Given the description of an element on the screen output the (x, y) to click on. 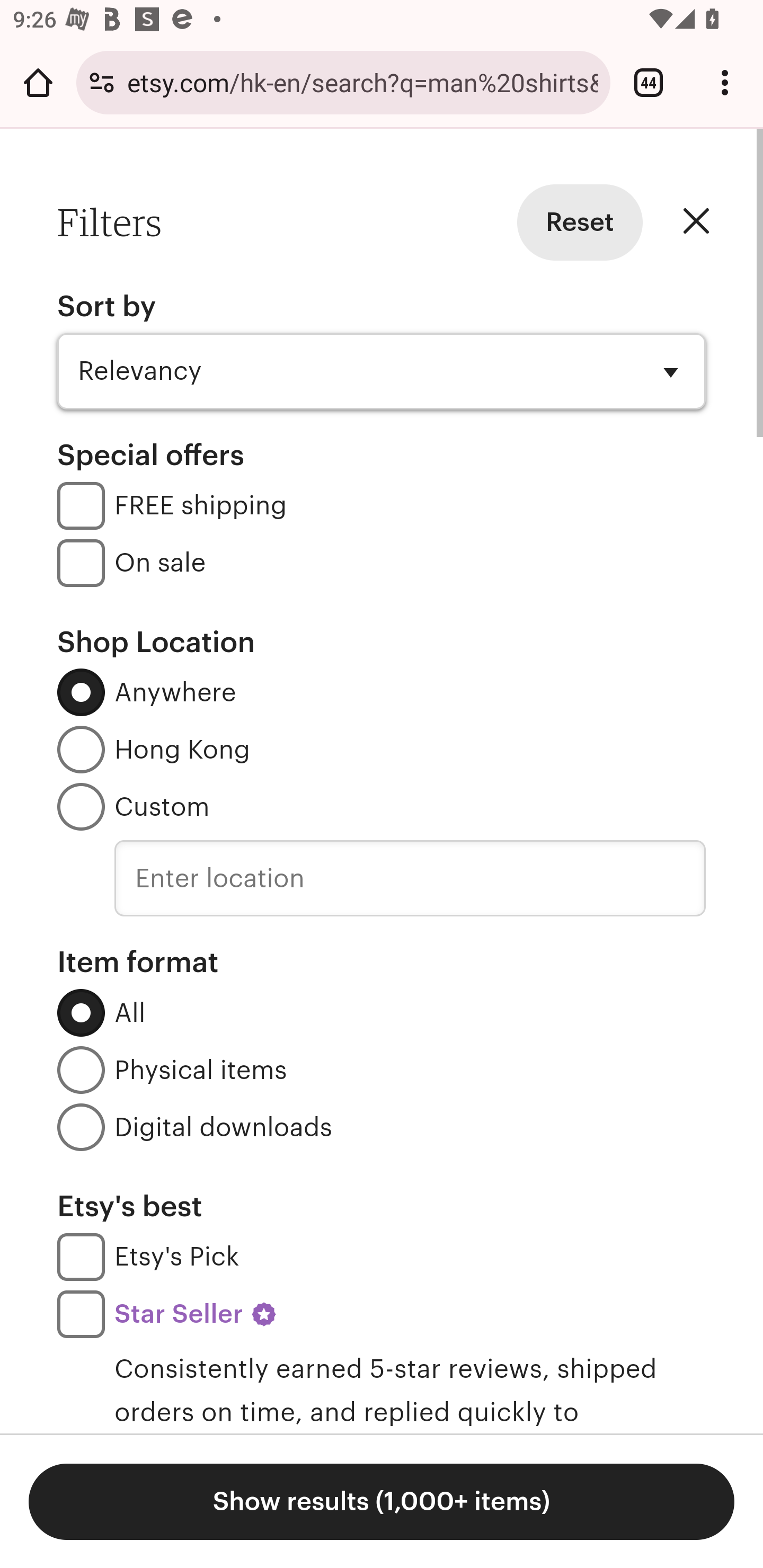
Open the home page (38, 82)
Connection is secure (101, 82)
Switch or close tabs (648, 82)
Customize and control Google Chrome (724, 82)
